Given the description of an element on the screen output the (x, y) to click on. 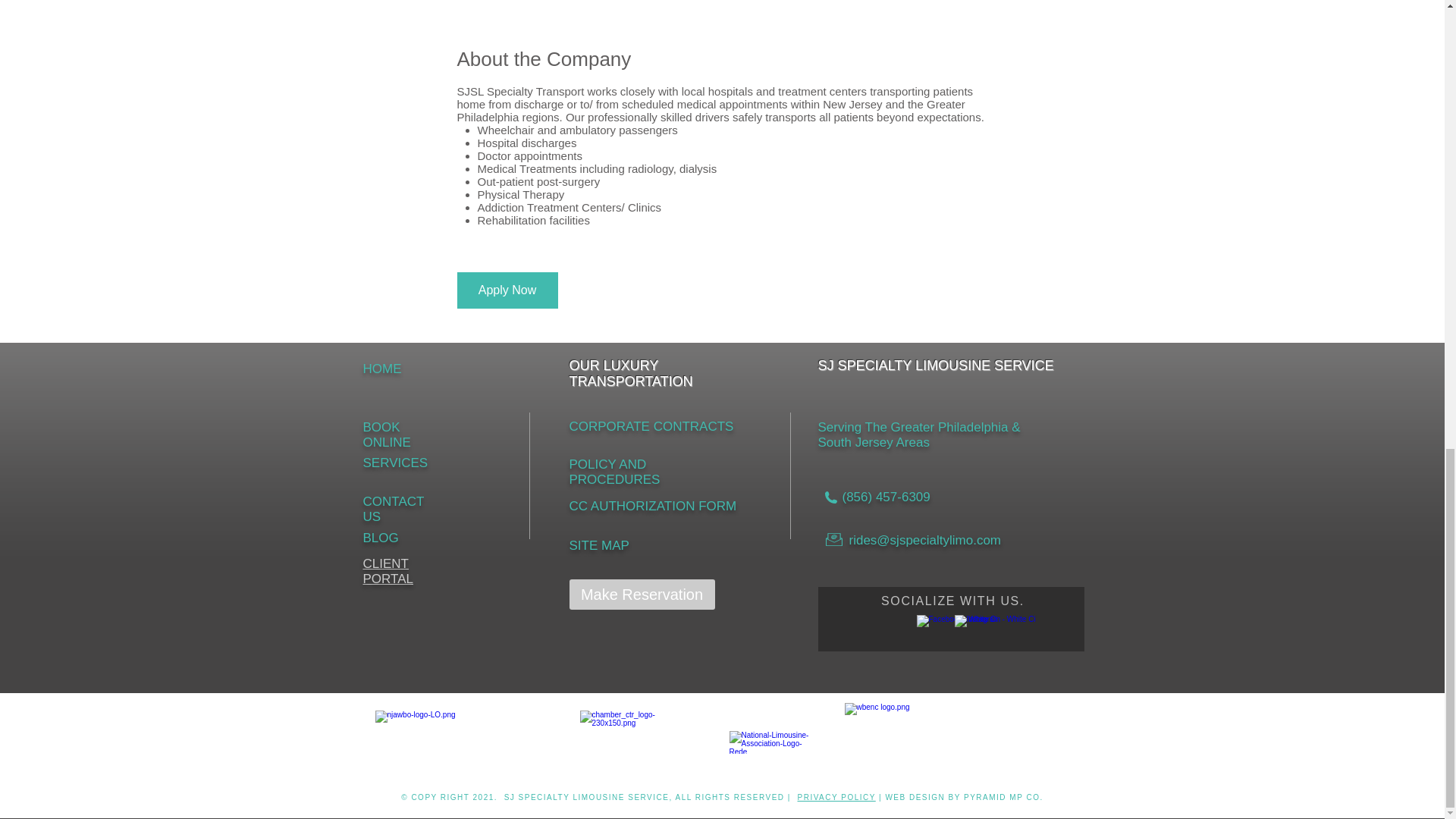
SJ SPECIALTY LIMOUSINE SERVICE (586, 797)
CORPORATE CONTRACTS (651, 426)
Apply Now (507, 289)
BLOG (379, 537)
CC AUTHORIZATION FORM (652, 505)
SERVICES (395, 462)
POLICY AND PROCEDURES (614, 471)
PRIVACY POLICY (836, 797)
BOOK ONLINE (386, 434)
CONTACT US (392, 509)
Make Reservation (641, 594)
wbenc (966, 742)
SITE MAP (598, 545)
CLIENT PORTAL (387, 571)
